Given the description of an element on the screen output the (x, y) to click on. 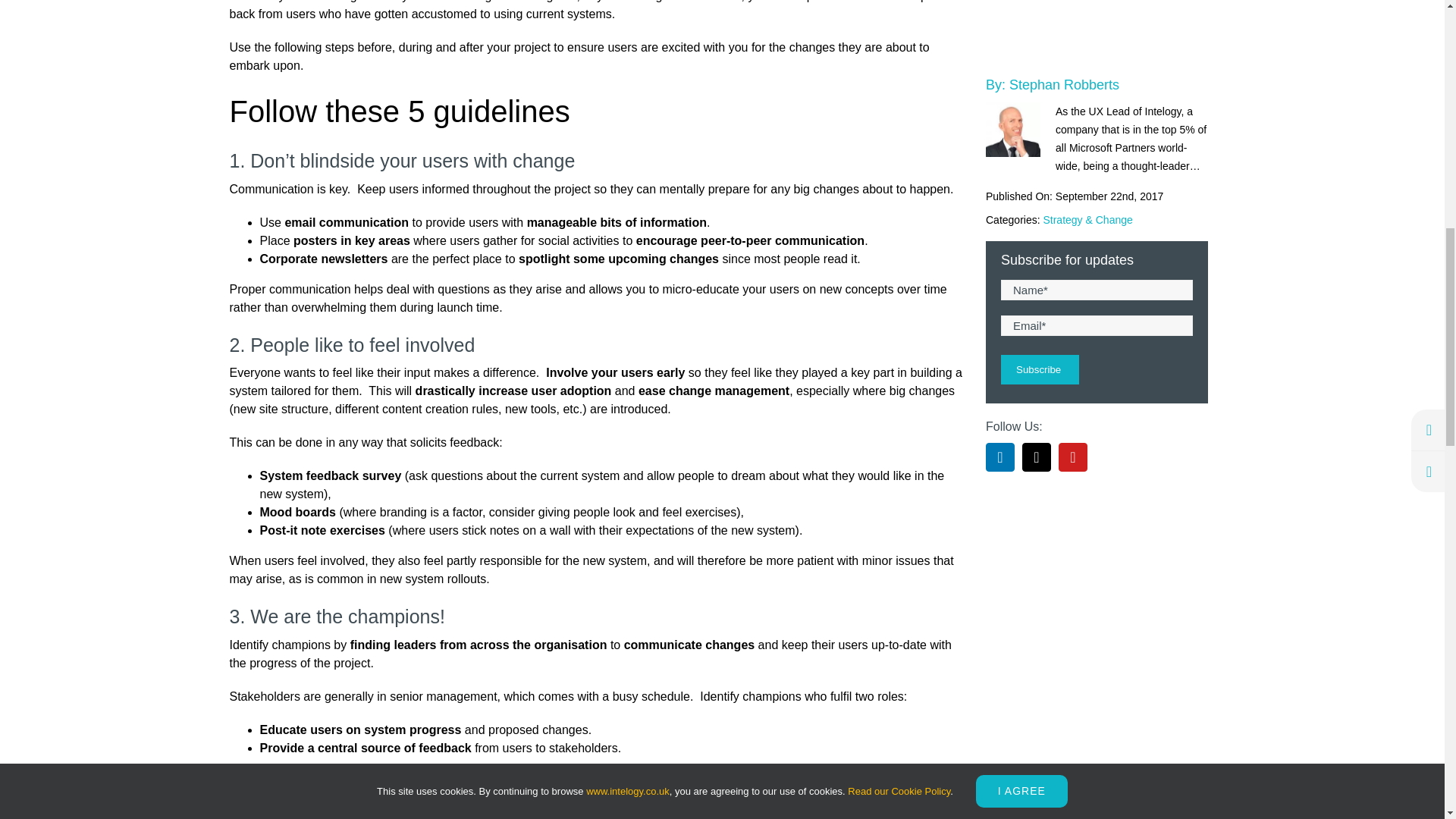
Subscribe  (1039, 104)
X (1036, 192)
YouTube (1072, 192)
LinkedIn (999, 192)
